Given the description of an element on the screen output the (x, y) to click on. 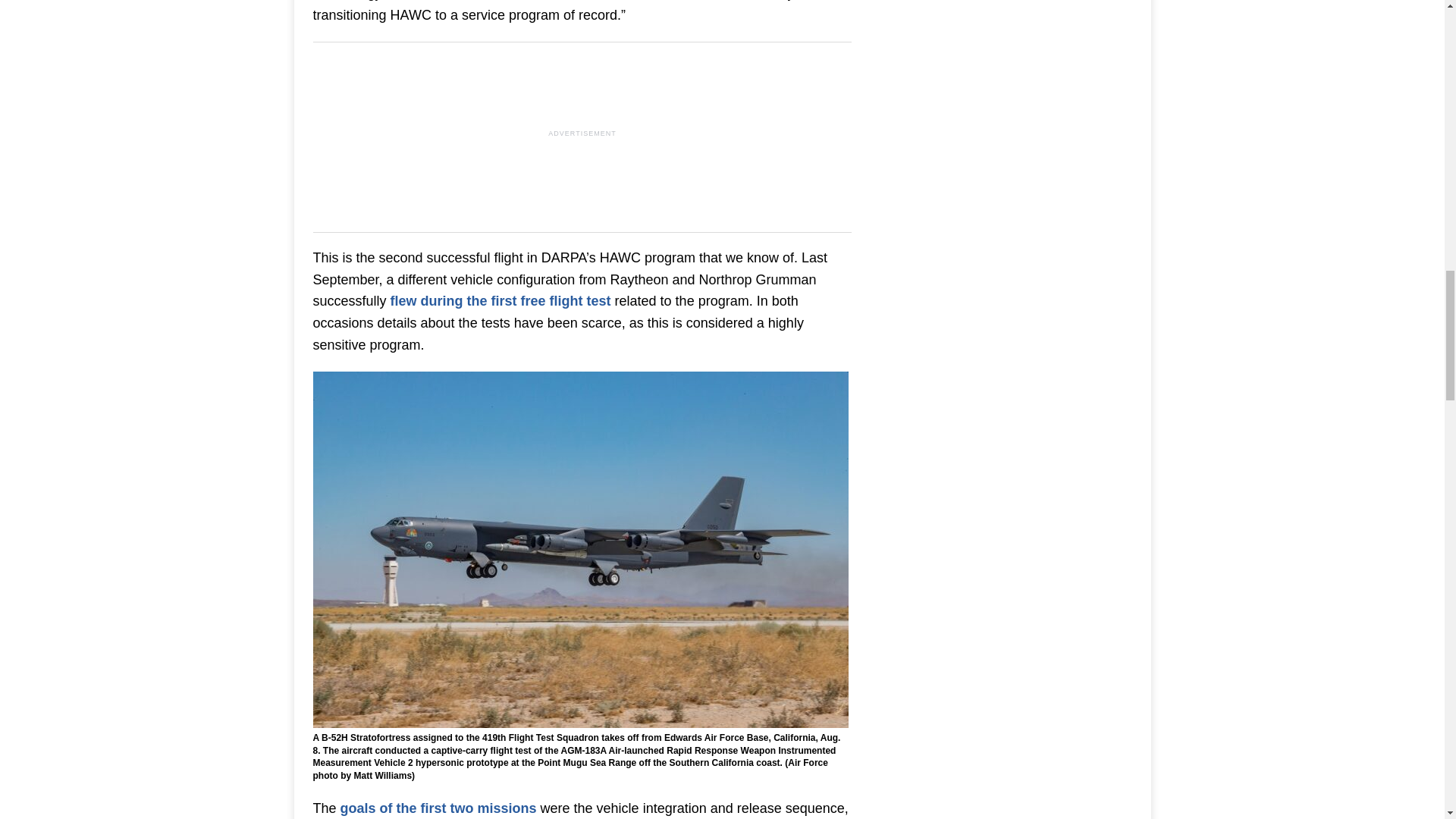
goals of the first two missions (438, 807)
flew during the first free flight test (500, 300)
